Given the description of an element on the screen output the (x, y) to click on. 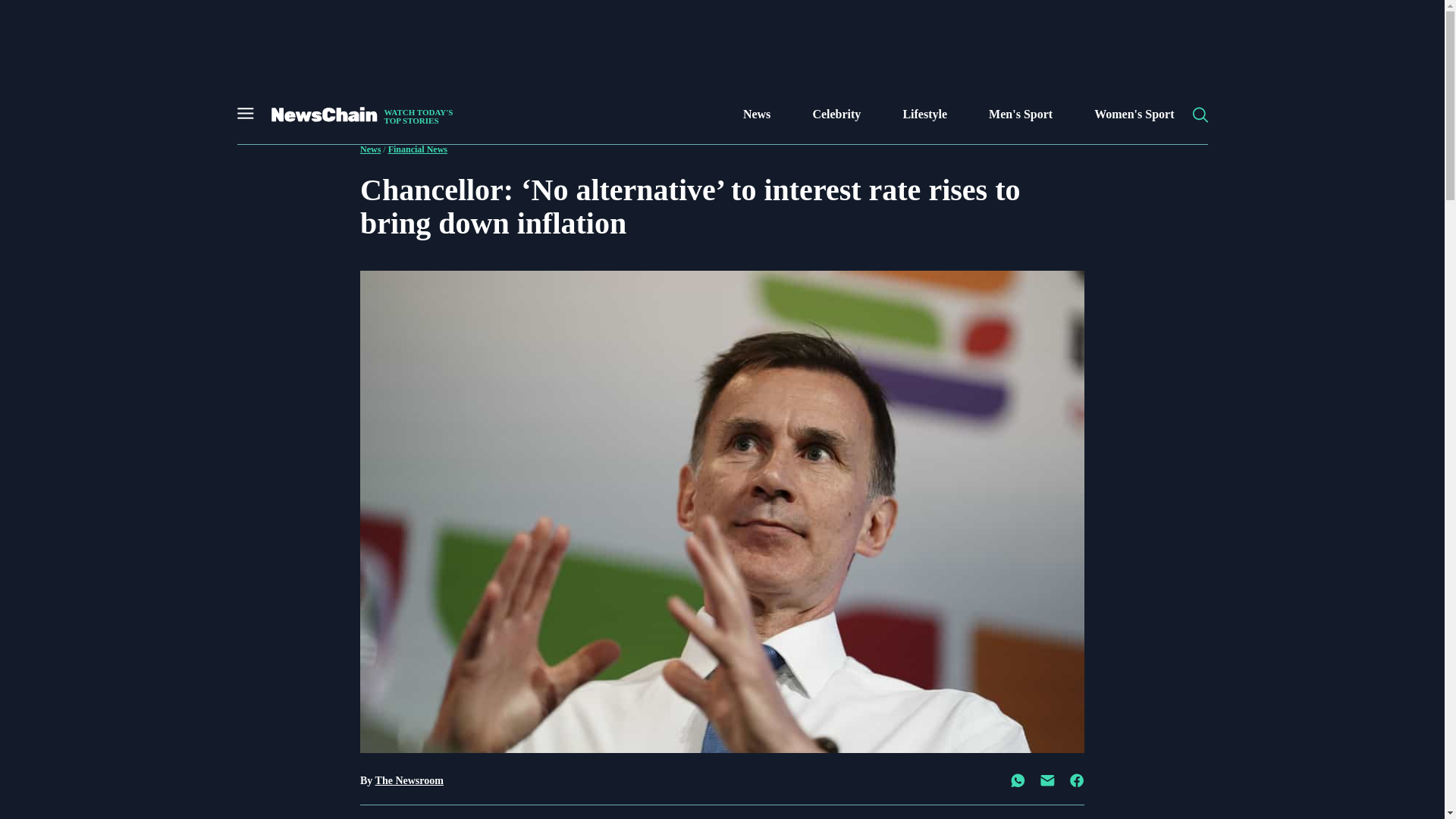
Men's Sport (1020, 114)
Financial News (417, 149)
News (369, 149)
Lifestyle (924, 114)
Women's Sport (359, 114)
The Newsroom (1133, 114)
Celebrity (409, 780)
News (836, 114)
